Given the description of an element on the screen output the (x, y) to click on. 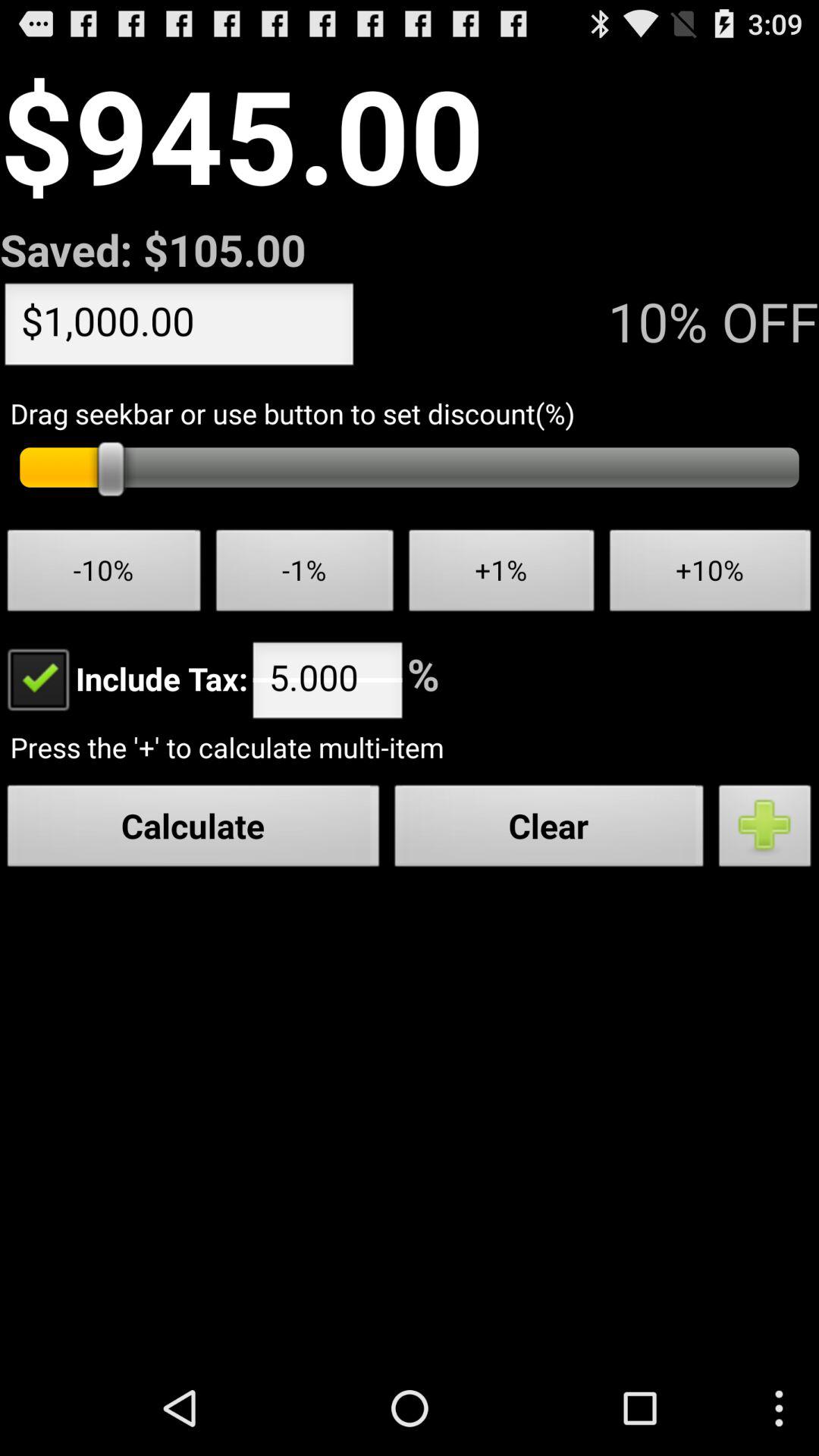
launch the button to the right of calculate item (549, 830)
